Given the description of an element on the screen output the (x, y) to click on. 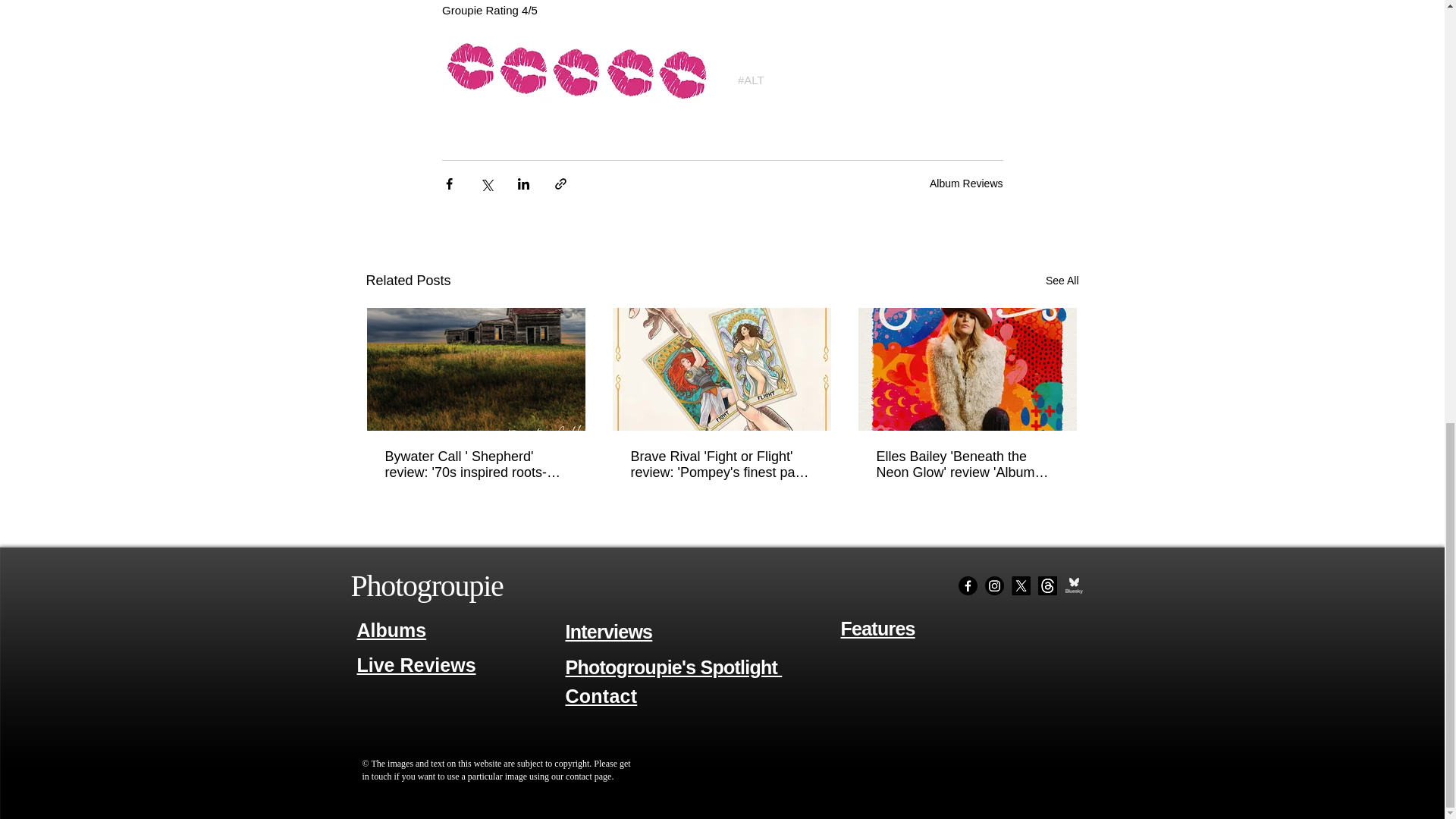
Photogroupie's Spotlight  (674, 667)
Interviews (609, 631)
Albums (391, 629)
Live Reviews (416, 665)
Album Reviews (966, 183)
Photogroupie (426, 585)
See All (1061, 280)
